Given the description of an element on the screen output the (x, y) to click on. 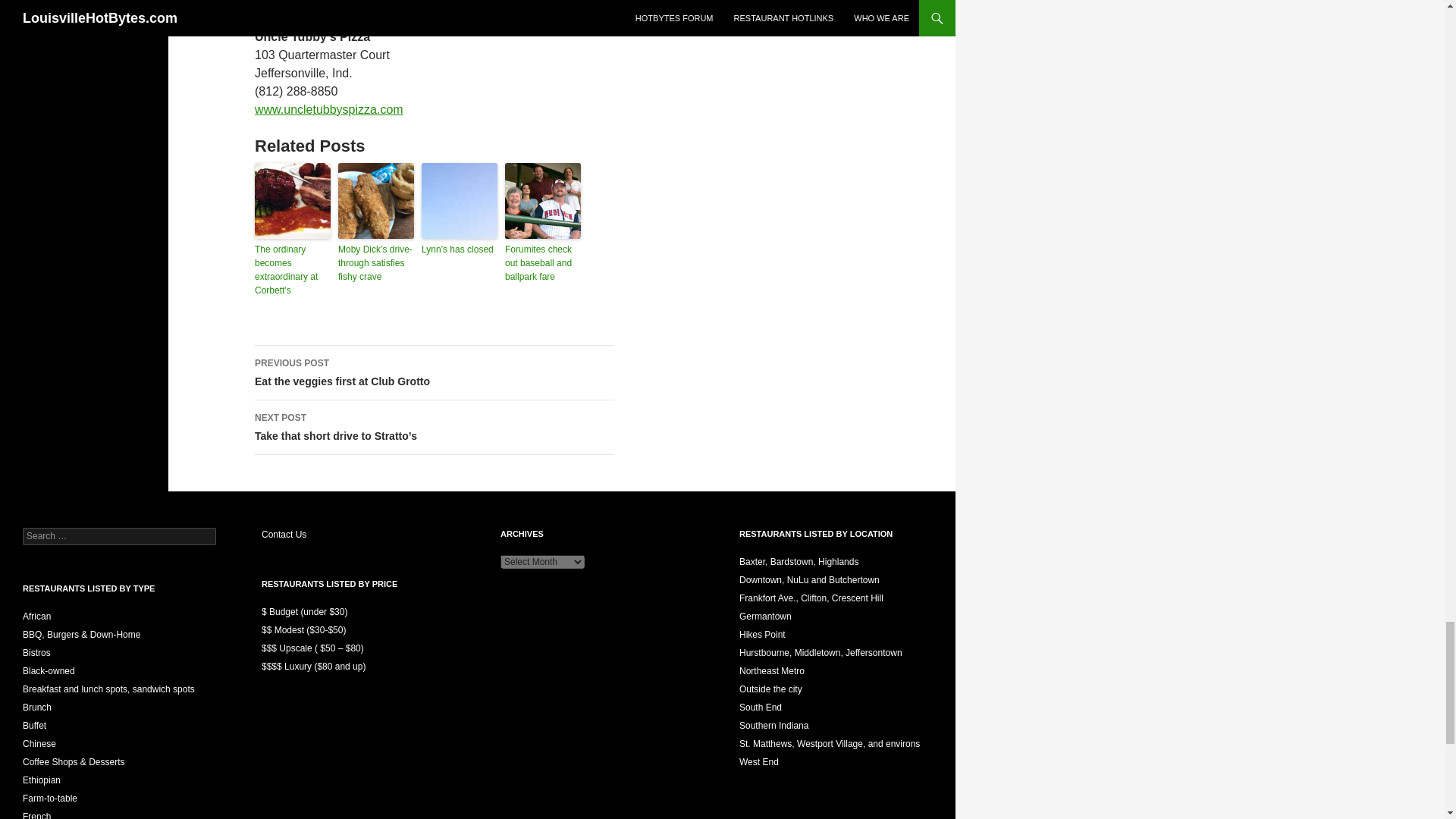
www.uncletubbyspizza.com (328, 109)
Forumites check out baseball and ballpark fare (434, 372)
